Given the description of an element on the screen output the (x, y) to click on. 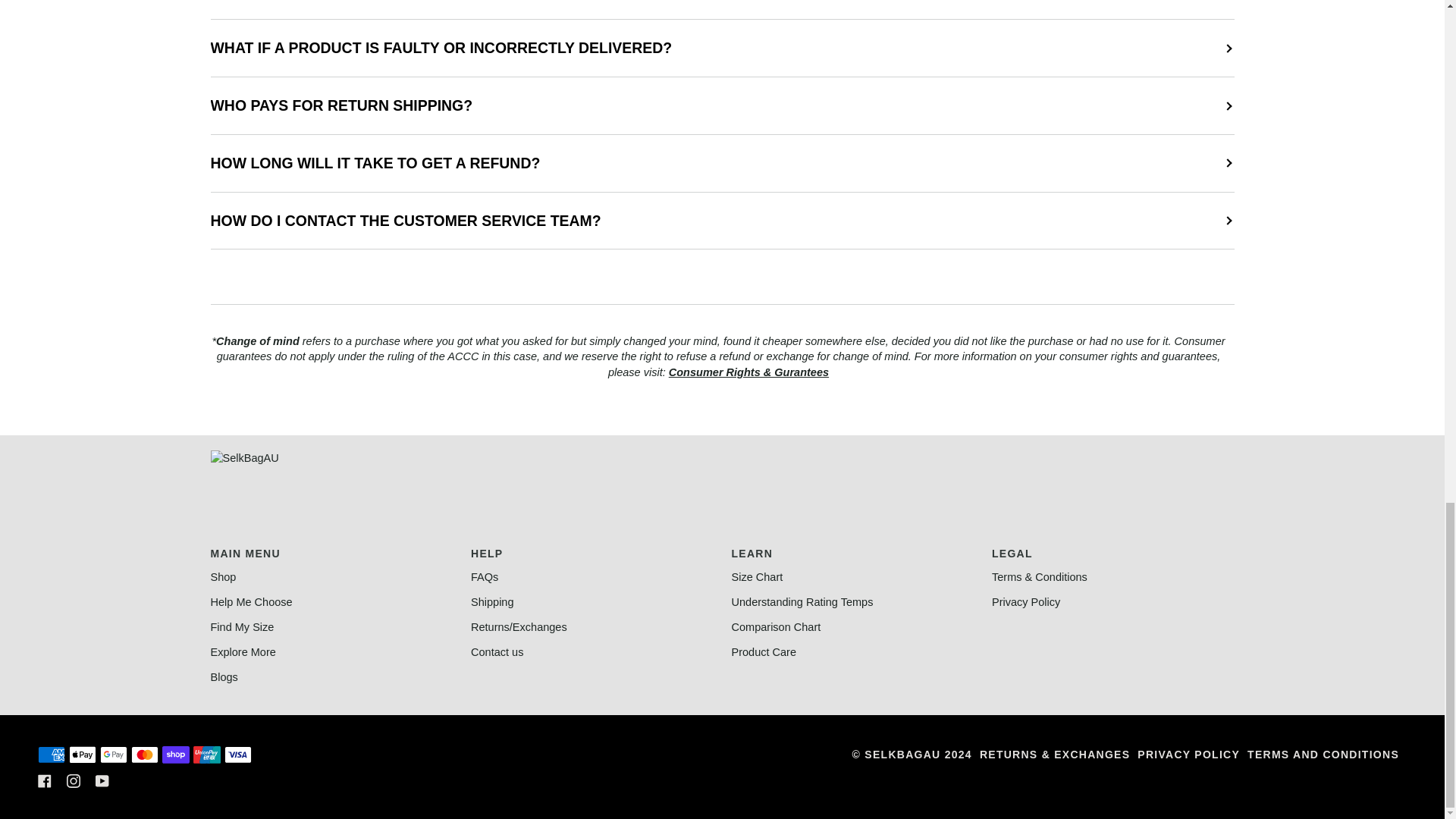
AMERICAN EXPRESS (51, 754)
MASTERCARD (144, 754)
YouTube (102, 780)
SHOP PAY (175, 754)
GOOGLE PAY (114, 754)
HOW DO I LODGE MY EXCHANGE OR RETURN? (722, 9)
UNION PAY (207, 754)
APPLE PAY (82, 754)
Instagram (73, 780)
VISA (237, 754)
